Given the description of an element on the screen output the (x, y) to click on. 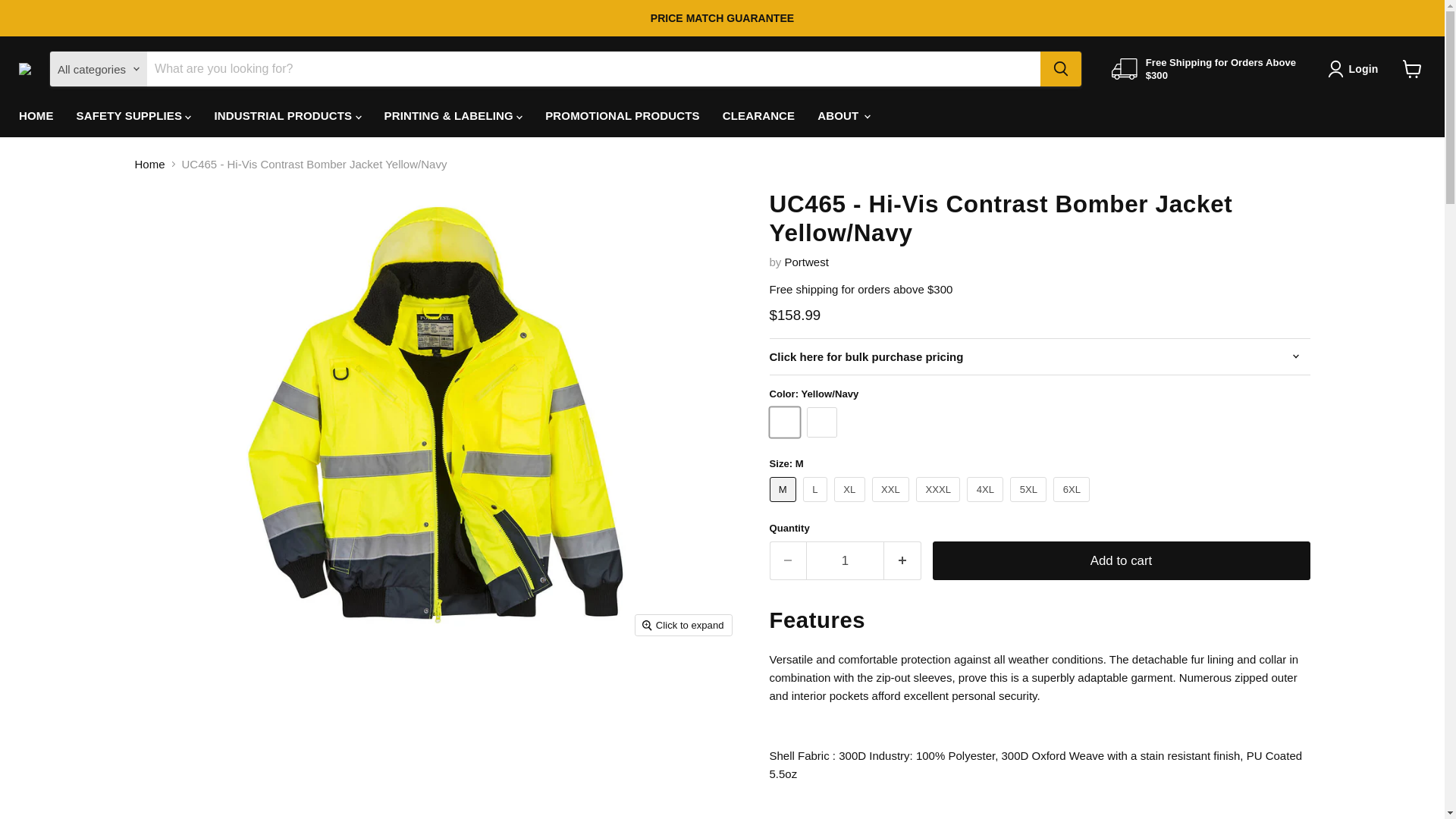
Login (1355, 68)
Portwest (806, 261)
View cart (1411, 68)
1 (844, 560)
HOME (36, 115)
